Given the description of an element on the screen output the (x, y) to click on. 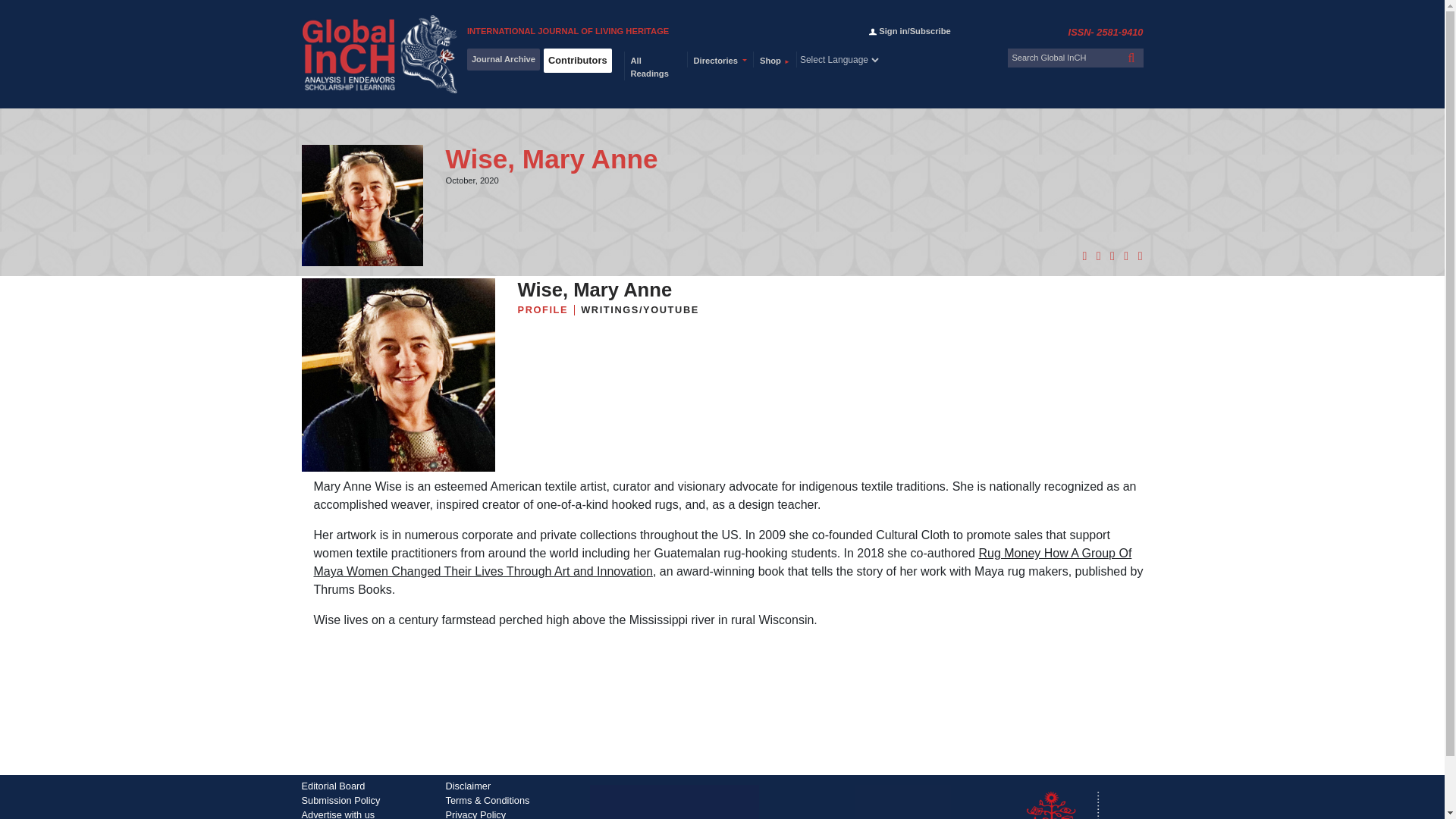
PROFILE (544, 309)
Contributors (577, 60)
Directories (719, 59)
